Given the description of an element on the screen output the (x, y) to click on. 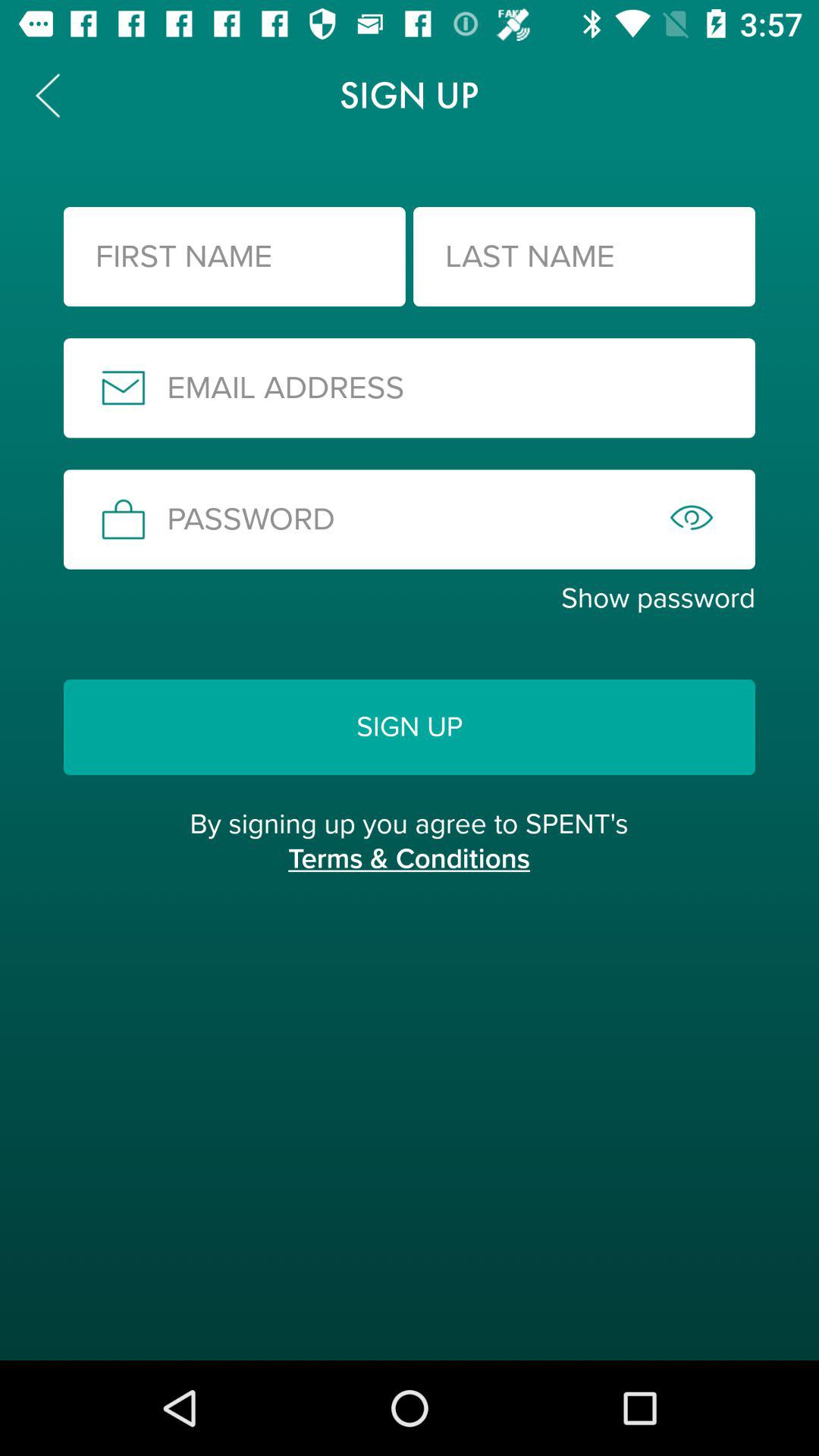
go to the last name option (584, 256)
